Given the description of an element on the screen output the (x, y) to click on. 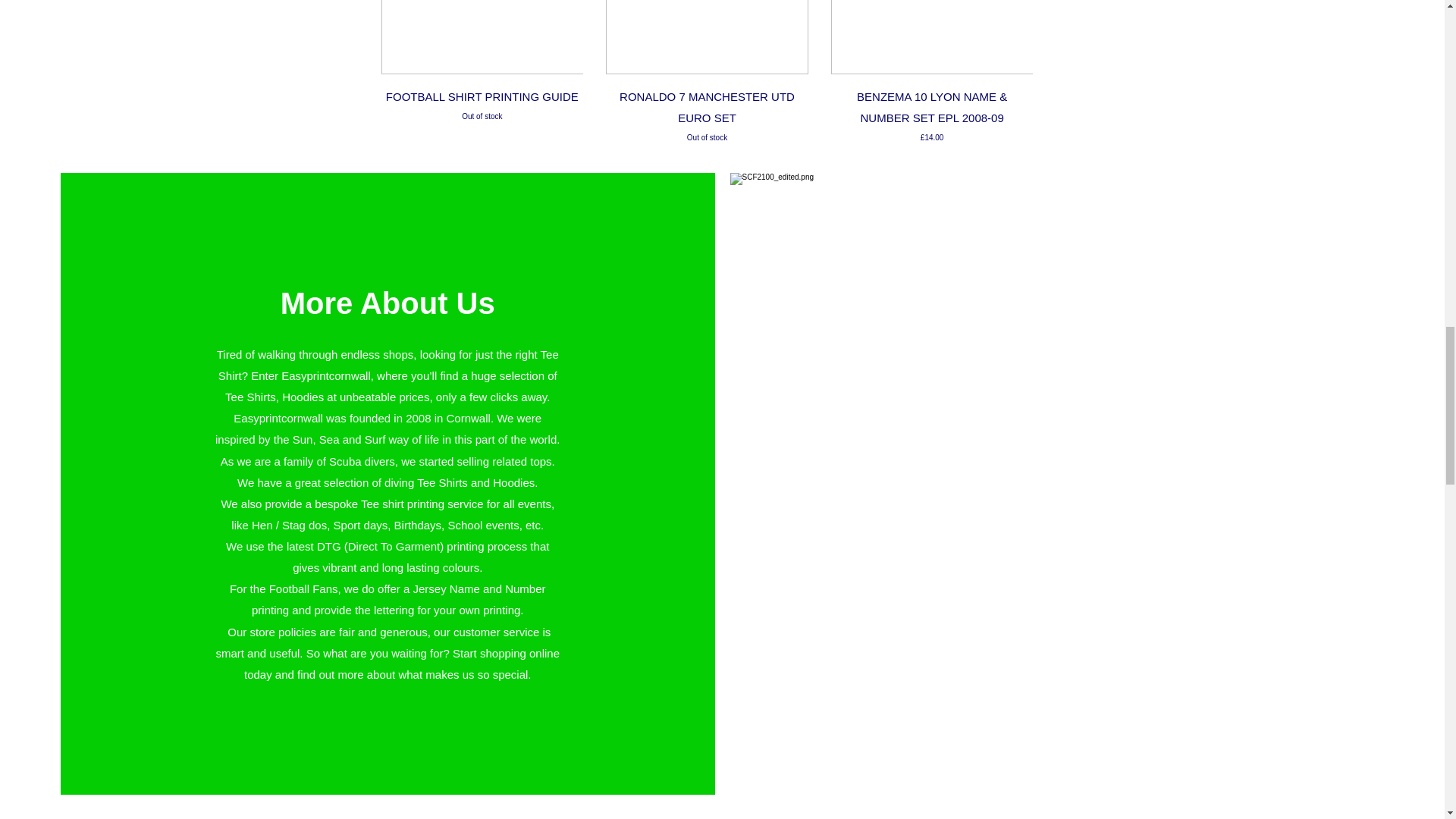
New Arrival (932, 37)
Name and number set (481, 114)
